Given the description of an element on the screen output the (x, y) to click on. 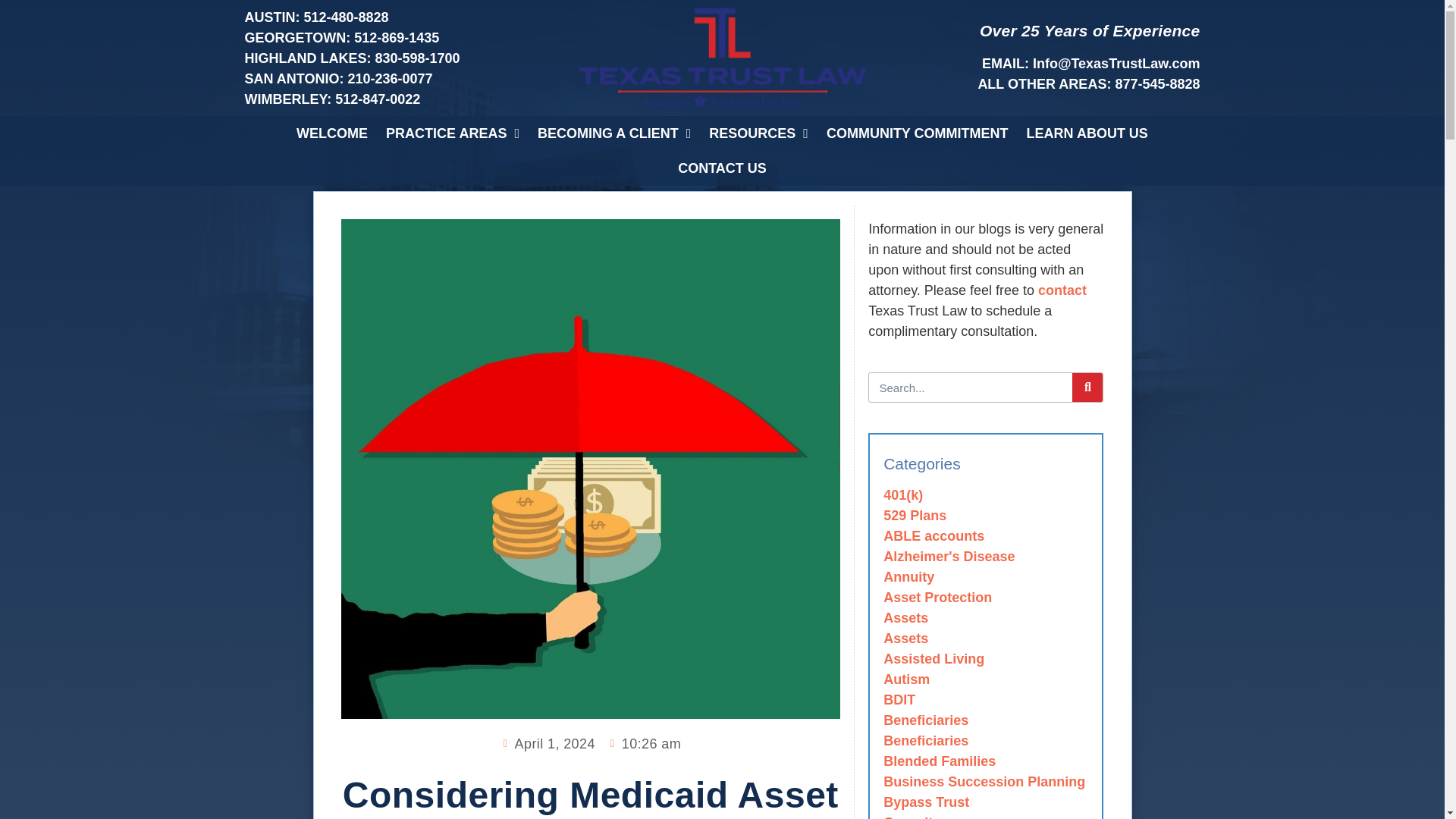
AUSTIN: 512-480-8828 (479, 17)
RESOURCES (758, 133)
BECOMING A CLIENT (614, 133)
WELCOME (331, 133)
PRACTICE AREAS (452, 133)
ALL OTHER AREAS: 877-545-8828 (964, 84)
SAN ANTONIO: 210-236-0077 (479, 78)
HIGHLAND LAKES: 830-598-1700 (479, 58)
GEORGETOWN: 512-869-1435 (479, 37)
WIMBERLEY: 512-847-0022 (479, 99)
